Given the description of an element on the screen output the (x, y) to click on. 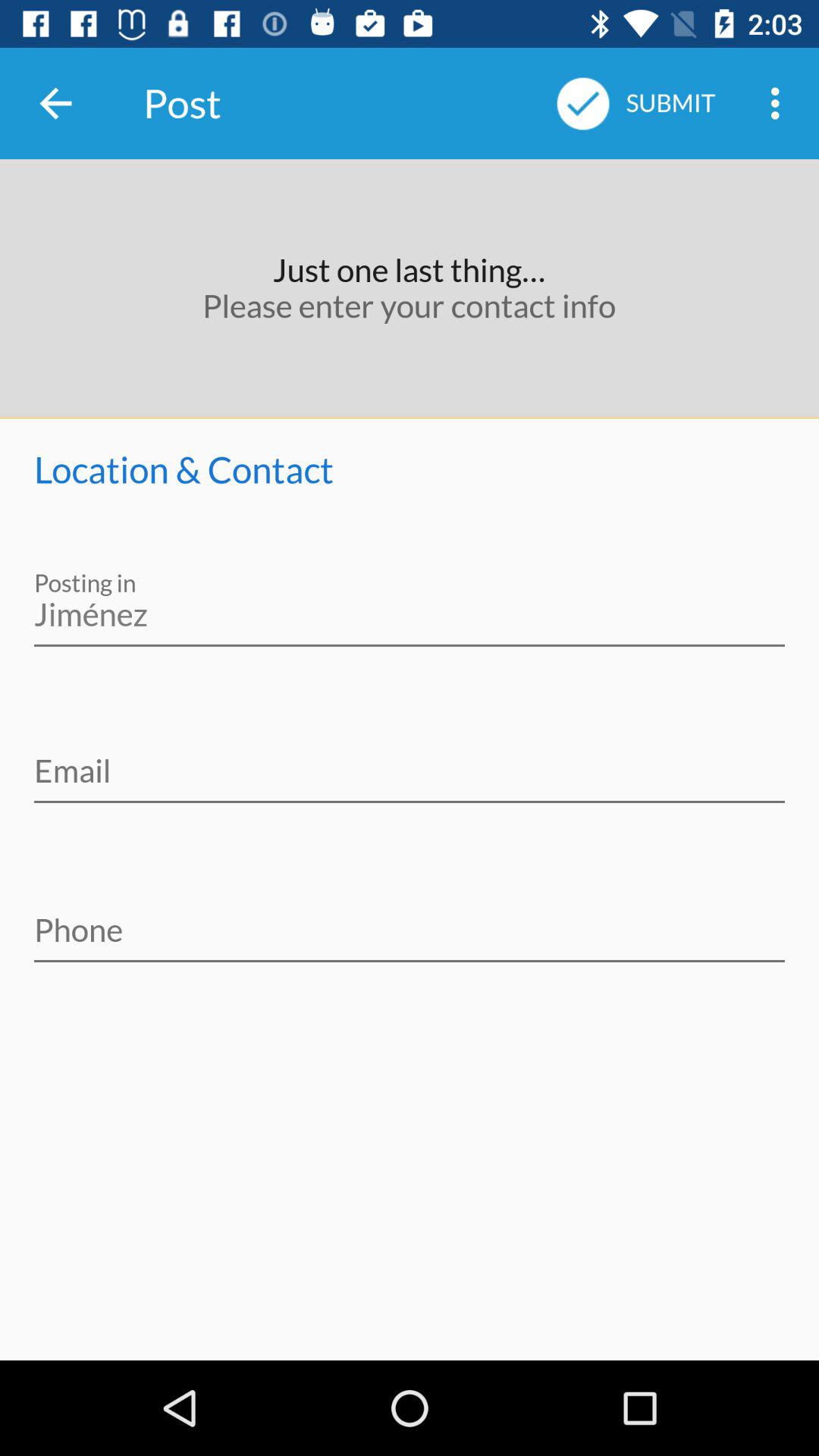
press item to the left of the post icon (55, 103)
